Given the description of an element on the screen output the (x, y) to click on. 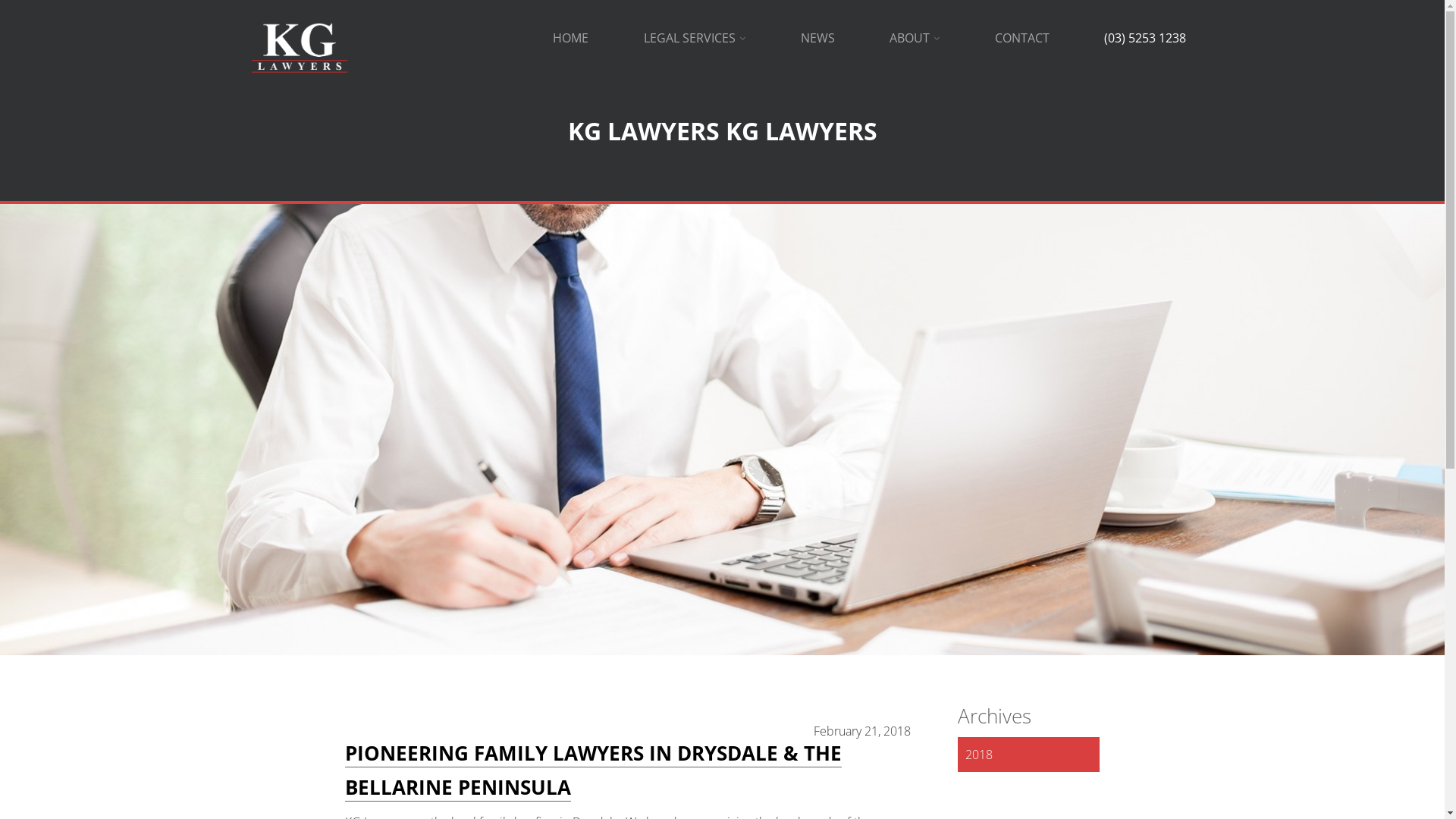
2018 Element type: text (1028, 754)
LEGAL SERVICES Element type: text (694, 37)
ABOUT Element type: text (914, 37)
CONTACT Element type: text (1021, 37)
NEWS Element type: text (817, 37)
HOME Element type: text (570, 37)
